Given the description of an element on the screen output the (x, y) to click on. 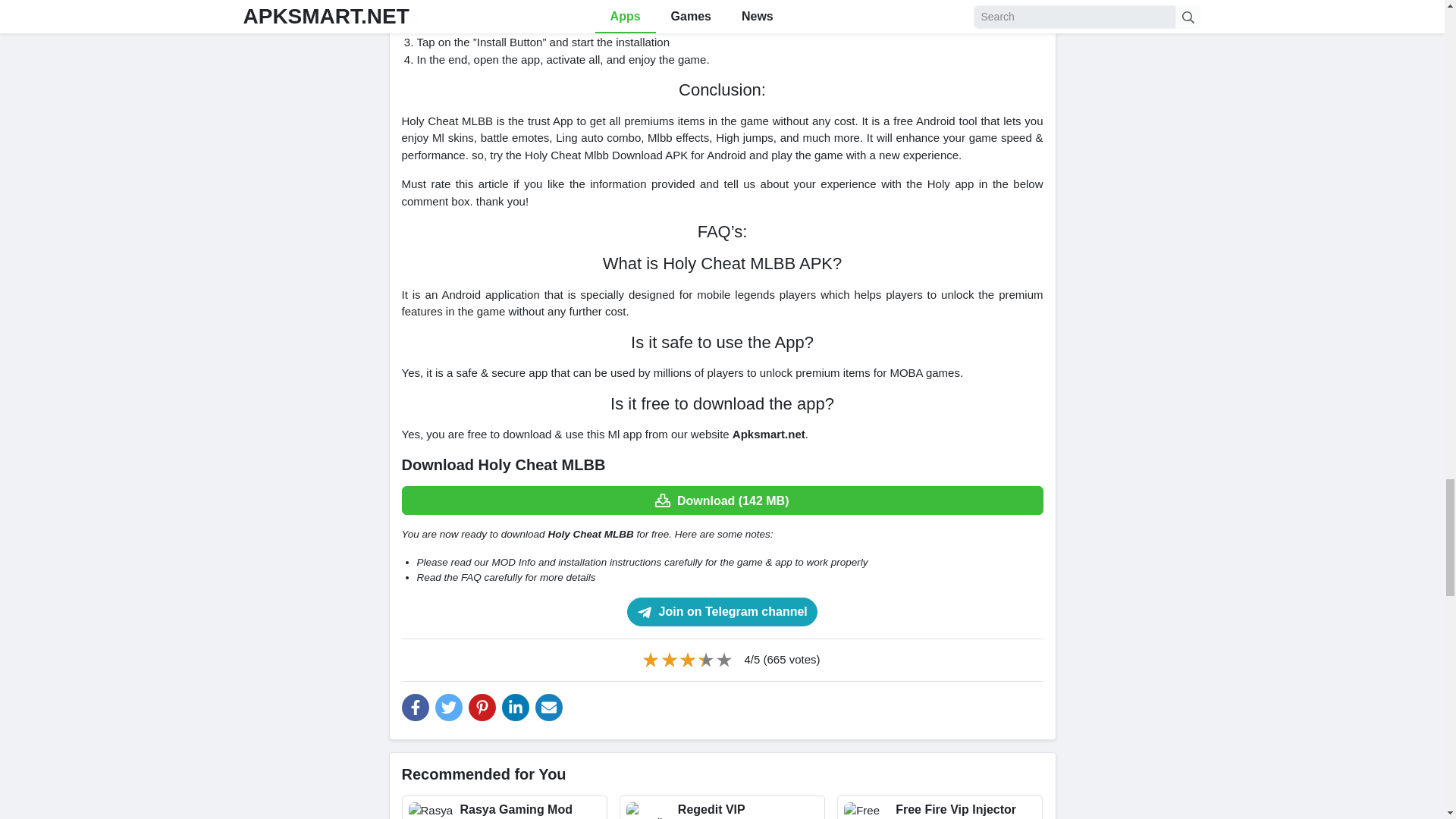
Regedit VIP (722, 807)
Rasya Gaming Mod (504, 807)
Join on Telegram channel (721, 611)
Free Fire Vip Injector (939, 807)
